Given the description of an element on the screen output the (x, y) to click on. 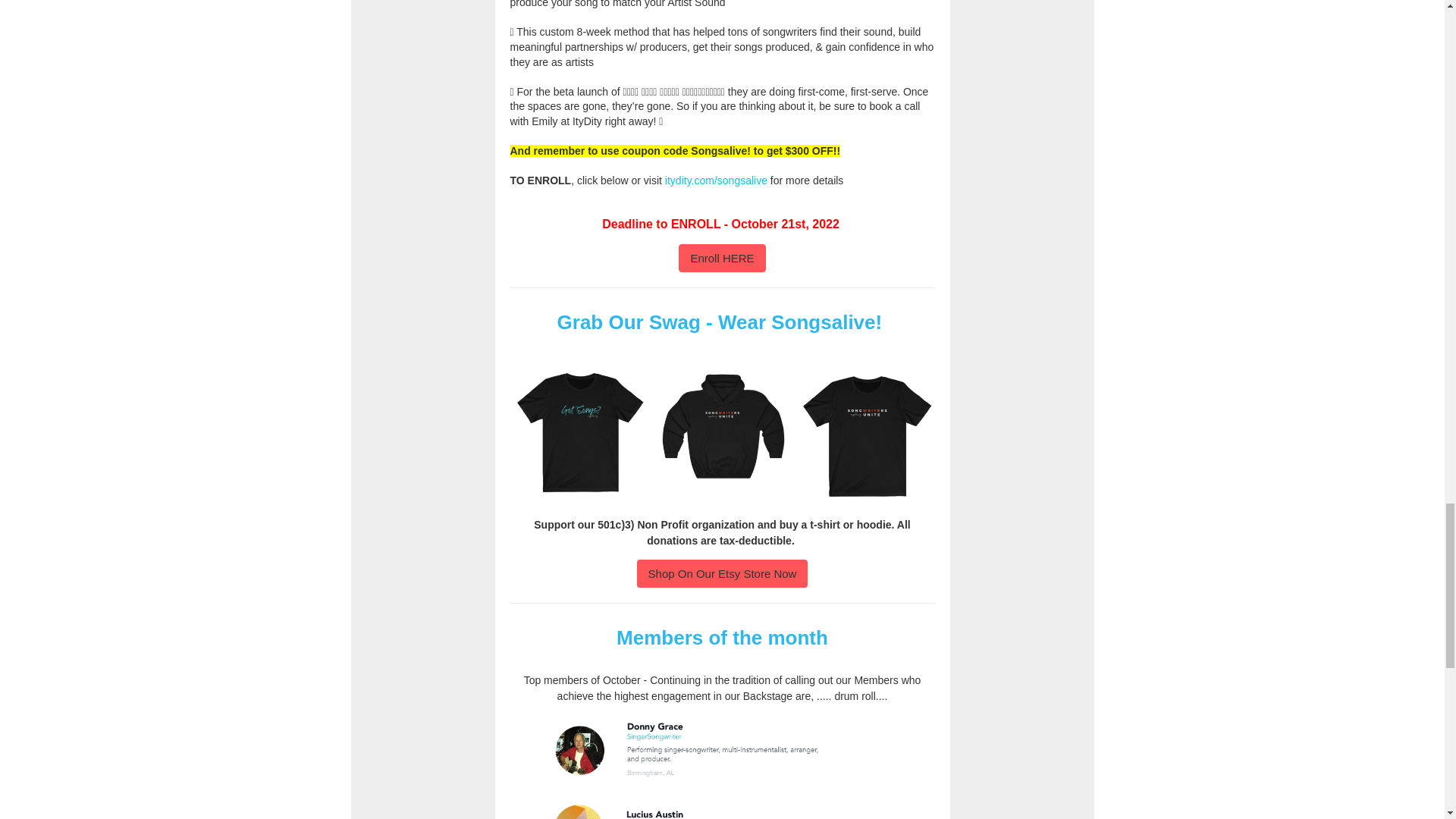
Enroll HERE (721, 257)
Shop On Our Etsy Store Now (722, 573)
